Given the description of an element on the screen output the (x, y) to click on. 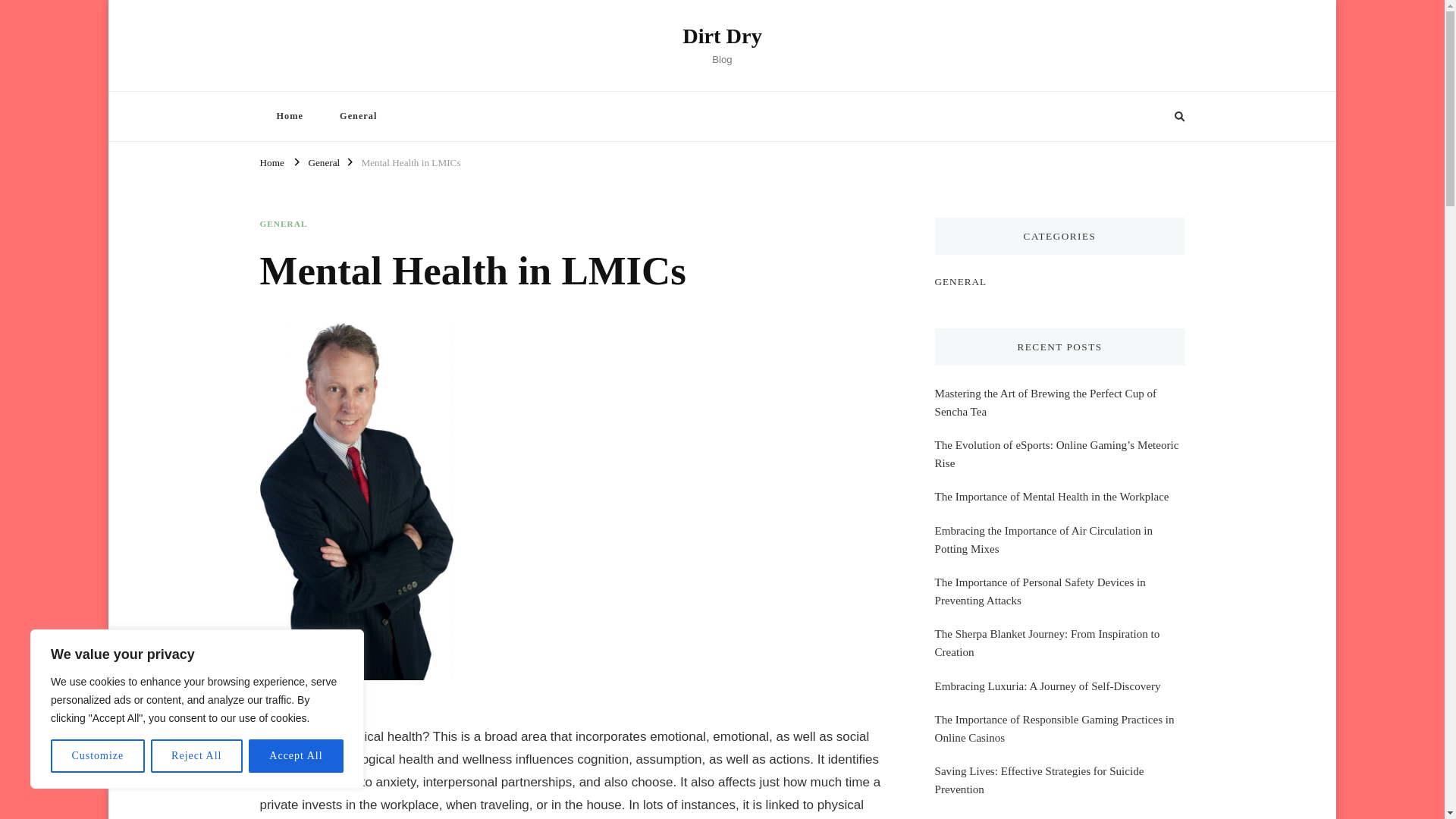
General (323, 161)
Mental Health in LMICs (410, 161)
Home (271, 161)
Home (288, 115)
Accept All (295, 756)
Customize (97, 756)
Reject All (197, 756)
Dirt Dry (721, 35)
General (358, 115)
GENERAL (283, 223)
